Given the description of an element on the screen output the (x, y) to click on. 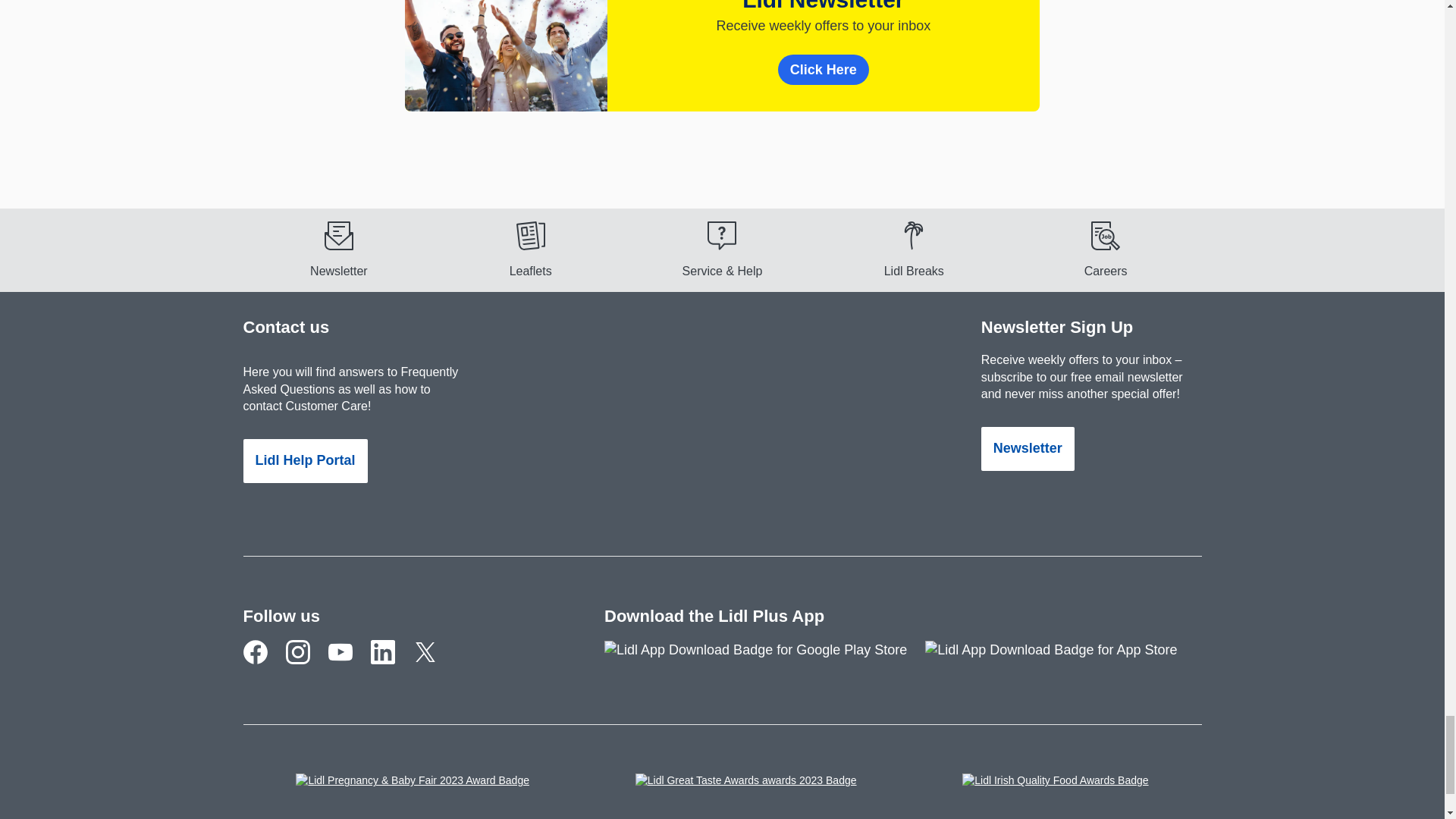
Our little hearts are waiting for you! (306, 663)
Irish Quality Food Awards! (1055, 786)
Lidl as an employer, a great opportunity! (1106, 248)
Download Lidl Plus App for Android! (764, 658)
More than just jobs, learn what's important about Lidl! (390, 663)
Great Taste Awards awards 2023! (746, 786)
X usually known as Twitter! (433, 663)
Download Lidl Plus App for iOS! (1059, 658)
Discover new offers every week! (529, 248)
Welcome to Lidl Breaks! (914, 248)
Become a Lidl Insider now! (338, 248)
Follow our stories on Facebook! (264, 663)
